Given the description of an element on the screen output the (x, y) to click on. 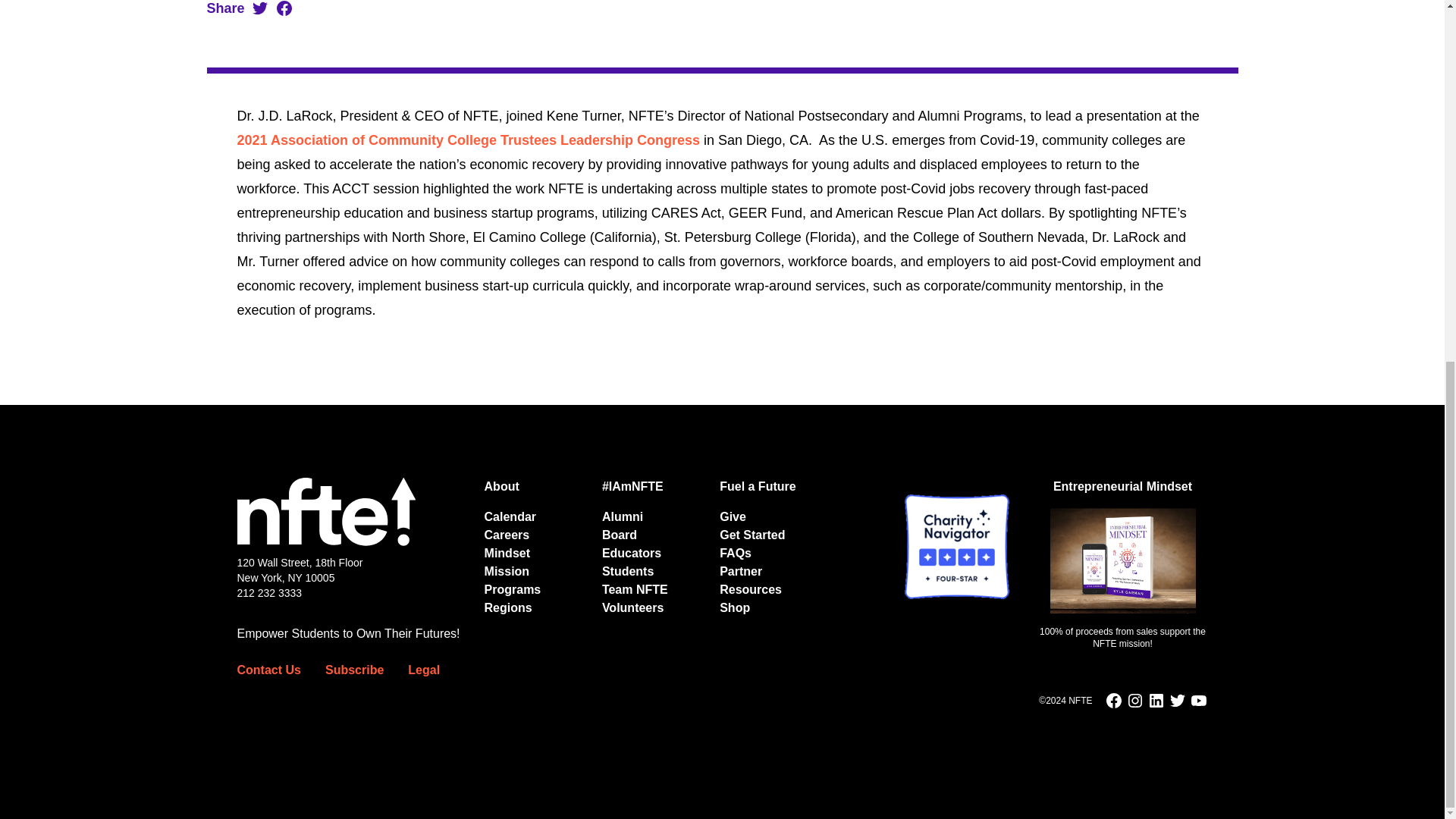
linkedin (1155, 700)
instagram (1133, 700)
twitter (1176, 700)
youtube (1198, 700)
facebook (1112, 700)
